Given the description of an element on the screen output the (x, y) to click on. 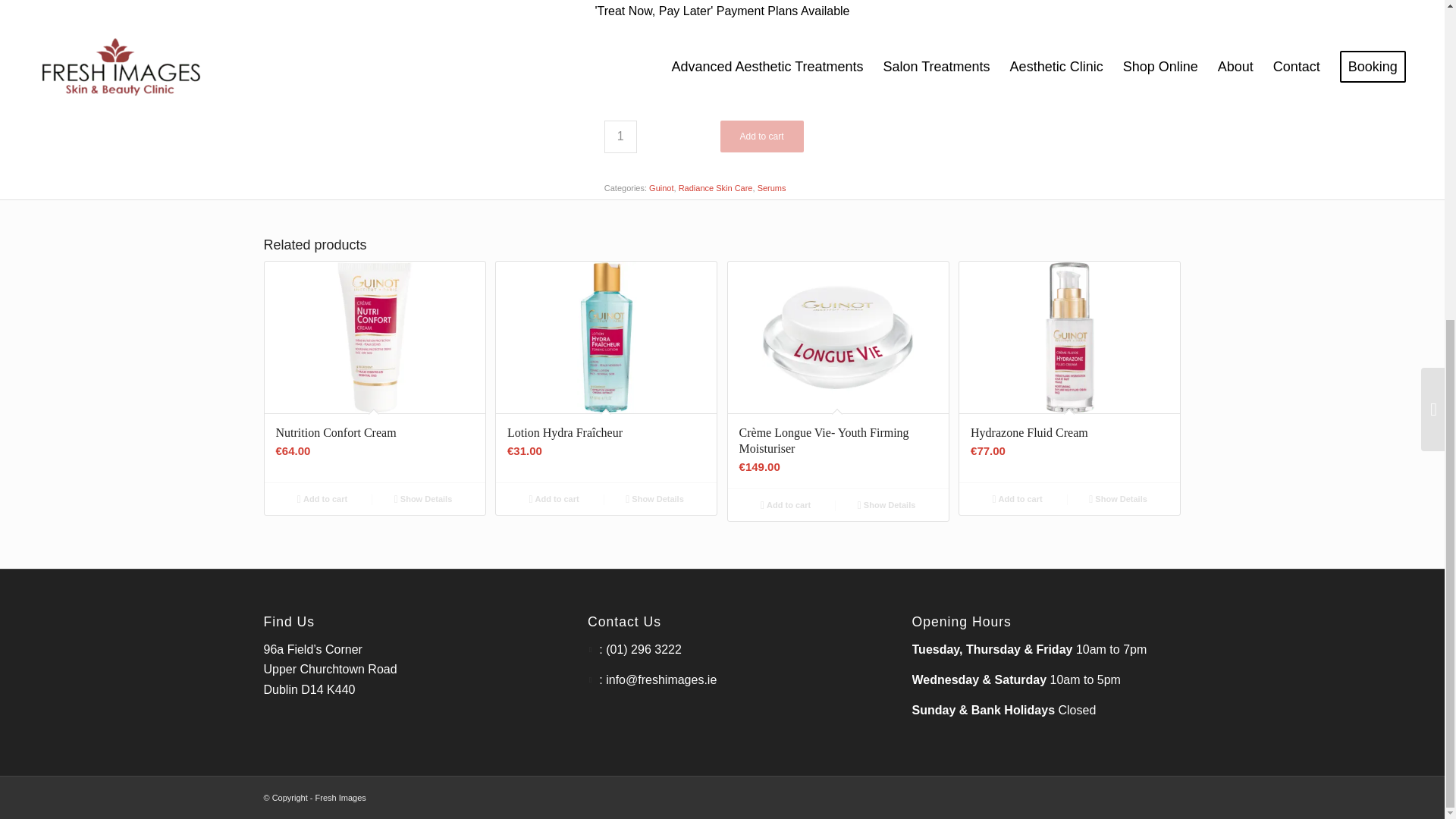
Radiance Skin Care (715, 187)
Nutrition Confort Cream (373, 337)
Add to cart (321, 498)
Hydrazone Fluid Cream (1069, 337)
Show Details (654, 498)
Guinot (660, 187)
Add to cart (785, 504)
Show Details (886, 504)
Serums (771, 187)
Add to cart (761, 136)
